Given the description of an element on the screen output the (x, y) to click on. 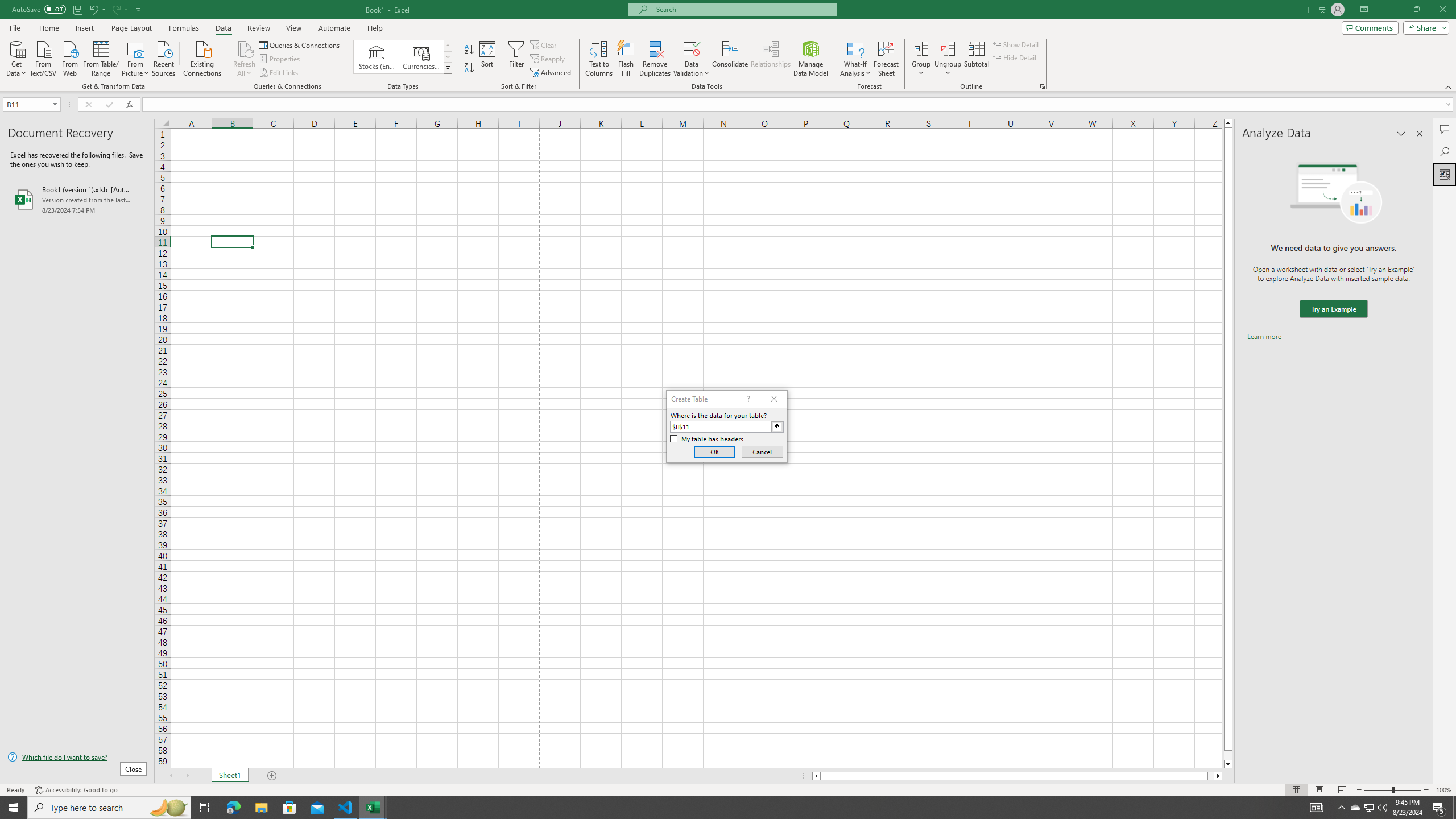
Name Box (30, 104)
AutomationID: ConvertToLinkedEntity (403, 56)
Data Validation... (691, 58)
Ribbon Display Options (1364, 9)
Column right (1218, 775)
Zoom (1392, 790)
Sort... (487, 58)
Flash Fill (625, 58)
Quick Access Toolbar (77, 9)
Zoom Out (1377, 790)
Manage Data Model (810, 58)
Subtotal (976, 58)
Text to Columns... (598, 58)
